Given the description of an element on the screen output the (x, y) to click on. 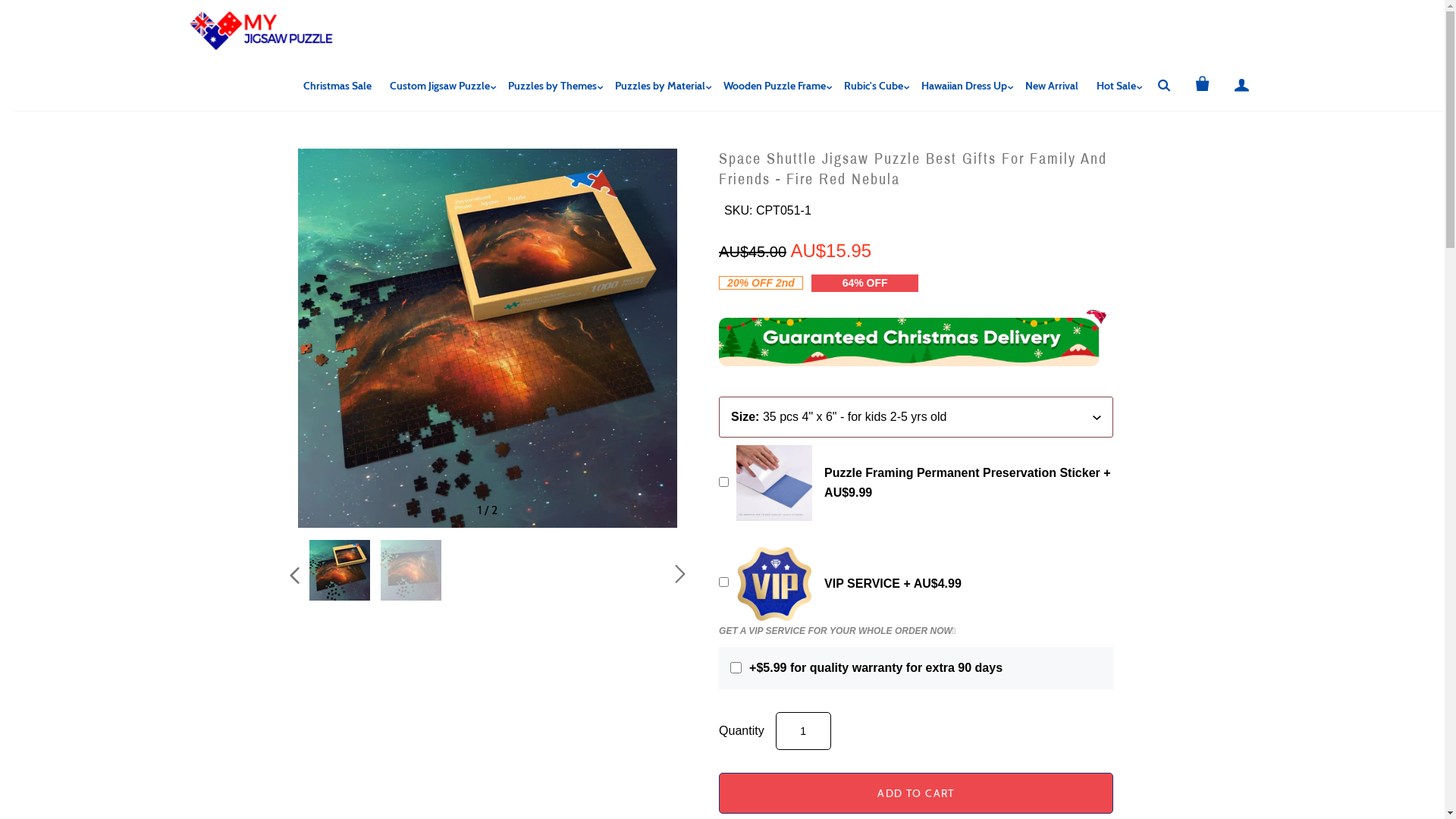
Hot Sale Element type: text (1115, 85)
New Arrival Element type: text (1051, 85)
Puzzles by Material Element type: text (659, 85)
Hawaiian Dress Up Element type: text (963, 85)
Rubic's Cube Element type: text (872, 85)
Wooden Puzzle Frame Element type: text (774, 85)
ADD TO CART Element type: text (915, 792)
Christmas Sale Element type: text (337, 85)
Puzzles by Themes Element type: text (552, 85)
Custom Jigsaw Puzzle Element type: text (439, 85)
